Given the description of an element on the screen output the (x, y) to click on. 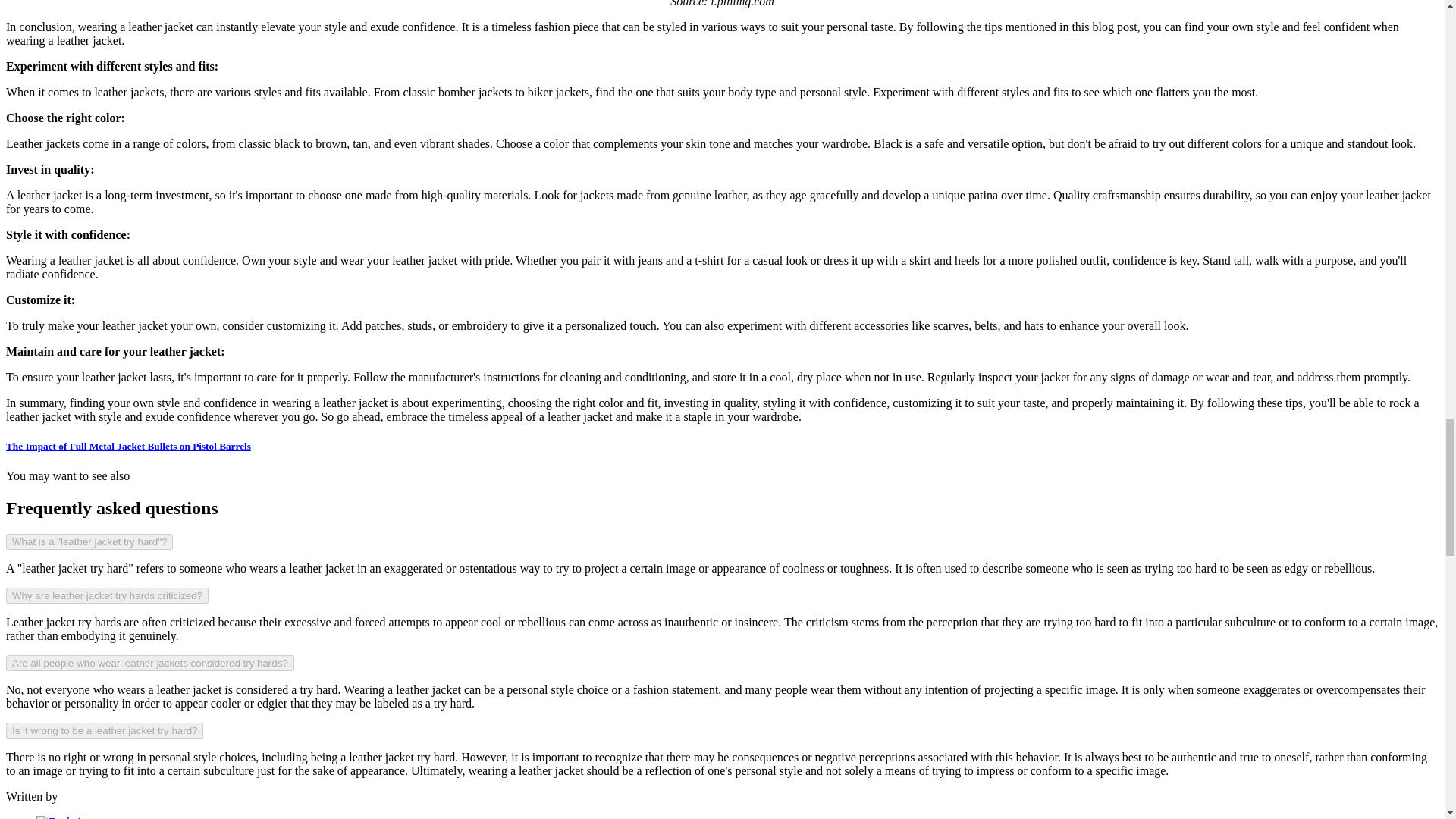
Is it wrong to be a leather jacket try hard? (104, 730)
The Impact of Full Metal Jacket Bullets on Pistol Barrels (127, 446)
Why are leather jacket try hards criticized? (106, 595)
What is a "leather jacket try hard"? (89, 541)
